Given the description of an element on the screen output the (x, y) to click on. 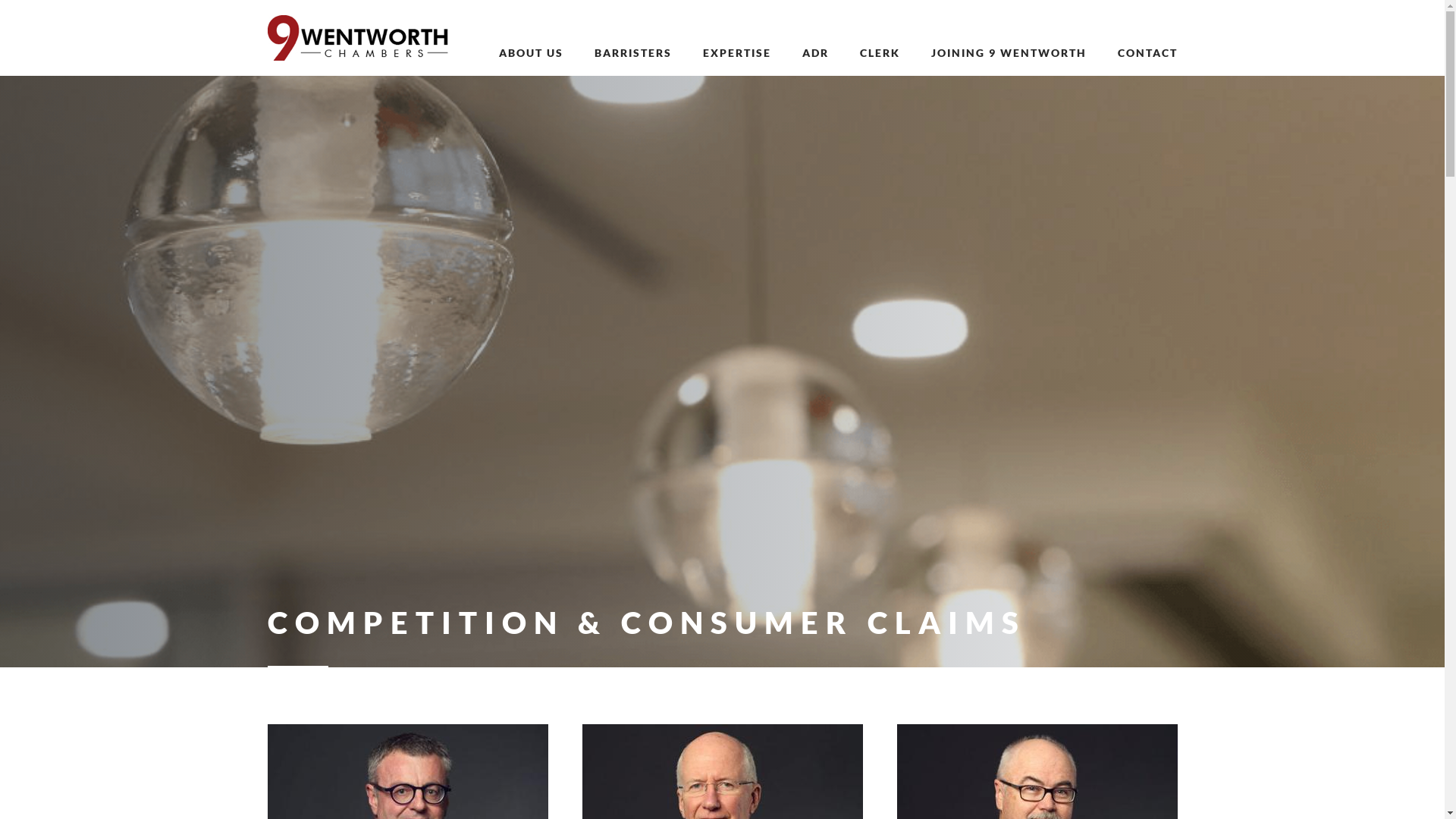
CONTACT Element type: text (1139, 52)
CLERK Element type: text (878, 52)
Home Element type: hover (357, 55)
Skip to main content Element type: text (0, 0)
EXPERTISE Element type: text (736, 52)
JOINING 9 WENTWORTH Element type: text (1008, 52)
BARRISTERS Element type: text (632, 52)
ADR Element type: text (814, 52)
ABOUT US Element type: text (530, 52)
